Given the description of an element on the screen output the (x, y) to click on. 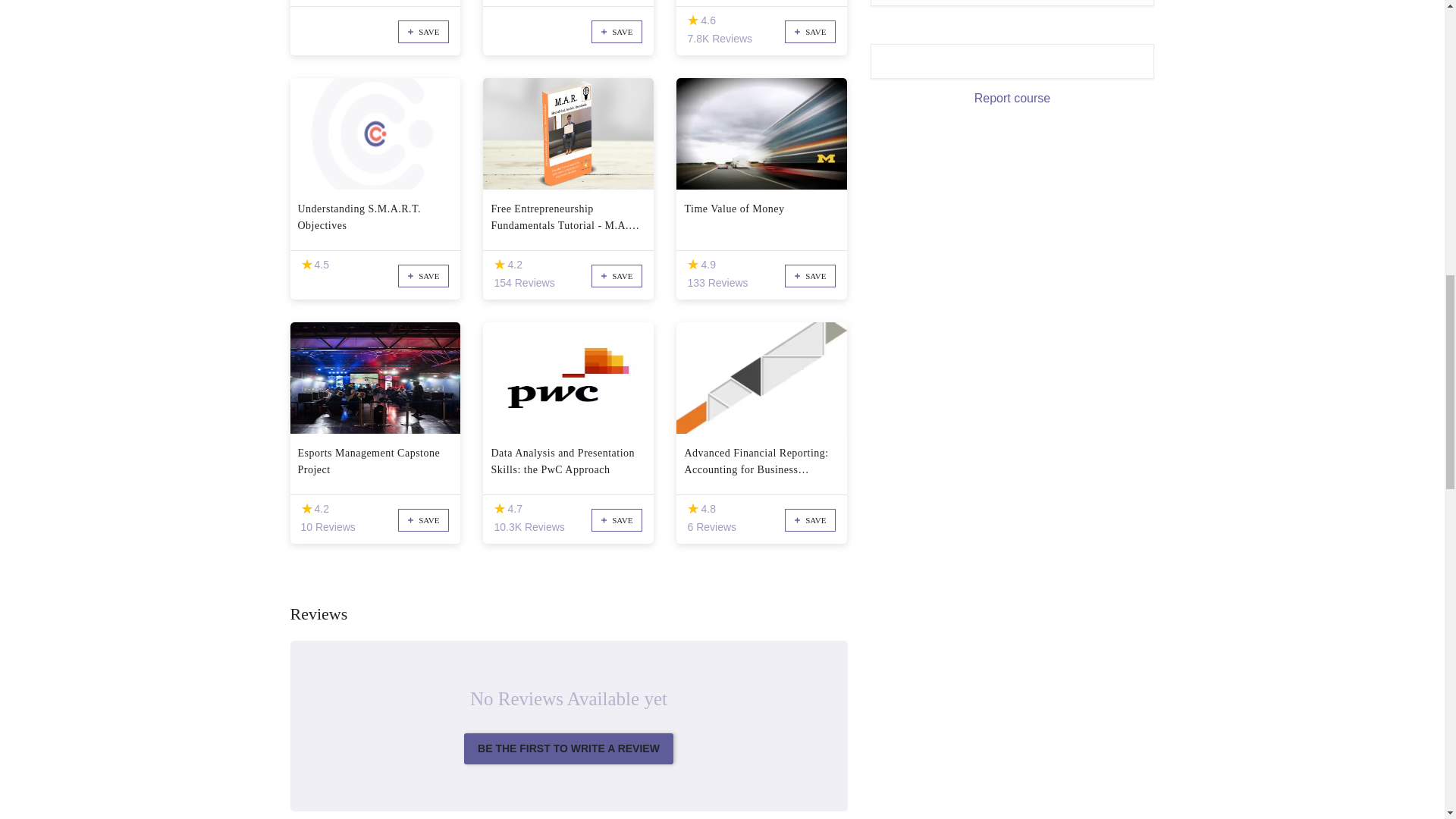
4.5 (306, 264)
4.2 (499, 264)
4.7 (499, 508)
4.9 (692, 264)
4.6 (692, 20)
4.2 (306, 508)
4.8 (692, 508)
